Given the description of an element on the screen output the (x, y) to click on. 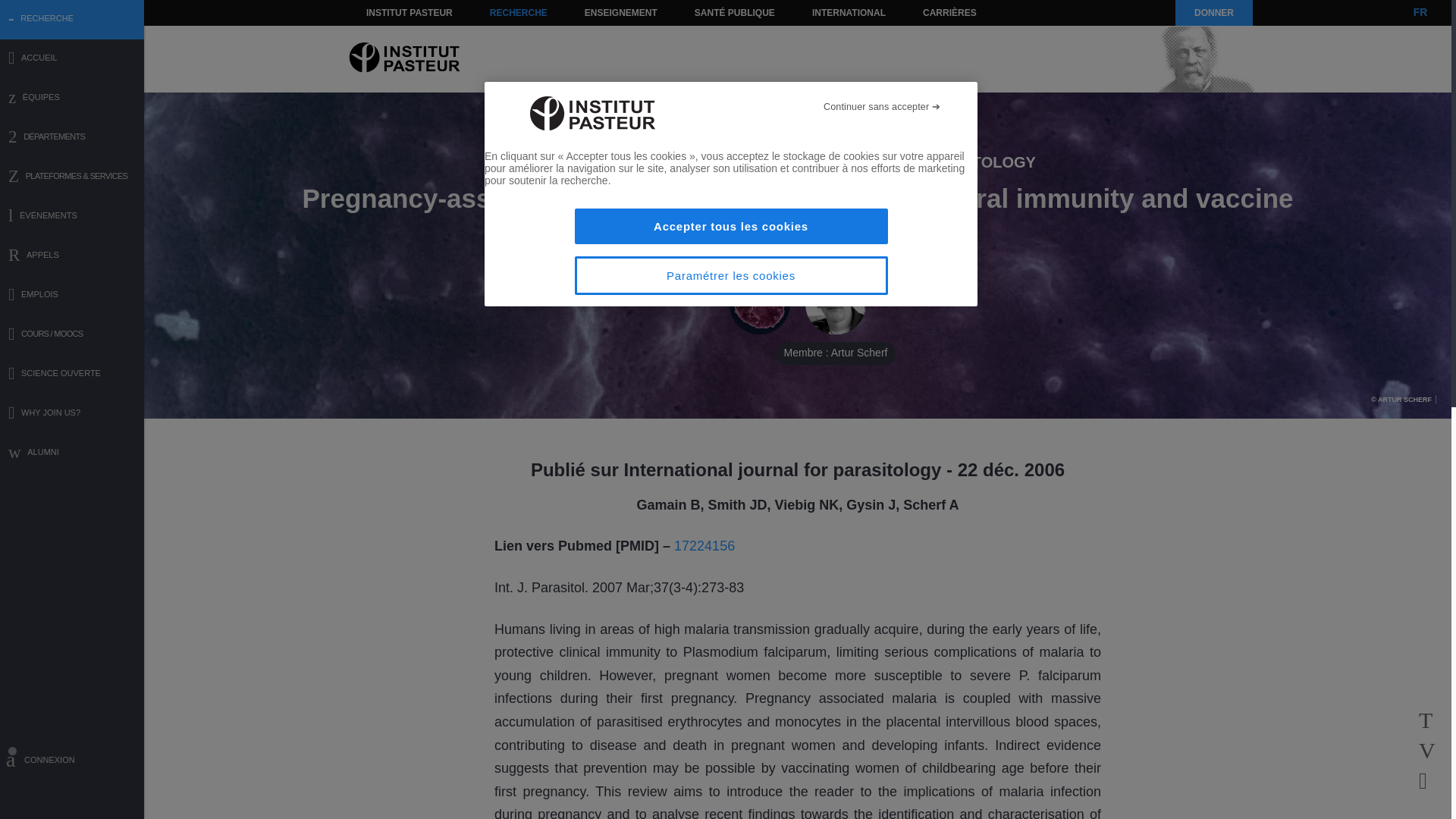
WHY JOIN US? (72, 413)
Membre : Artur Scherf (835, 304)
ACCUEIL (72, 59)
Aller au contenu (391, 11)
DONNER (1213, 12)
FR (1419, 11)
EMPLOIS (72, 296)
ALUMNI (72, 454)
17224156 (704, 545)
INTERNATIONAL (848, 12)
SCIENCE OUVERTE (72, 374)
RECHERCHE (518, 12)
ENSEIGNEMENT (620, 12)
CONNEXION (72, 762)
INSTITUT PASTEUR (409, 12)
